Given the description of an element on the screen output the (x, y) to click on. 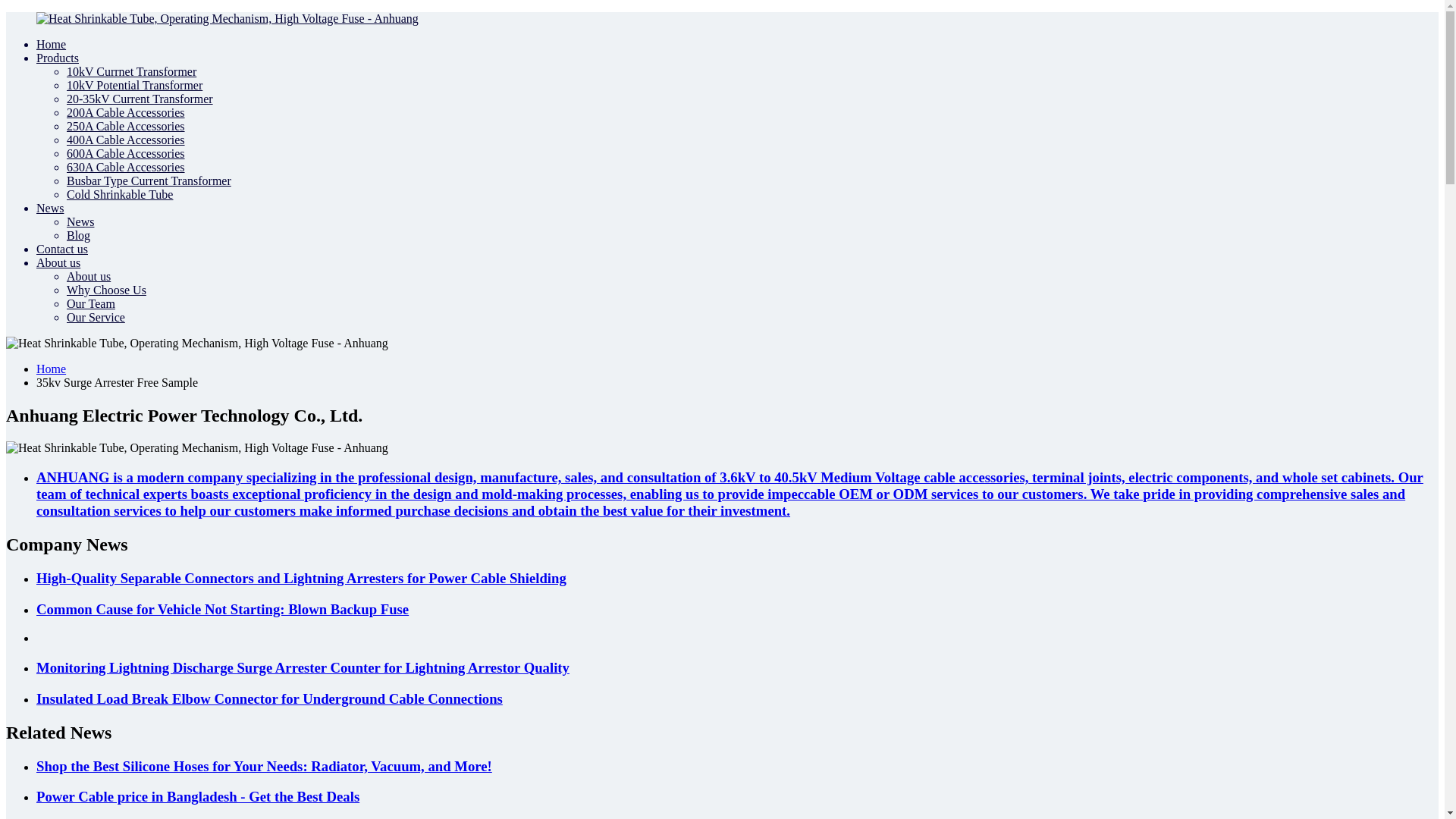
400A Cable Accessories (125, 139)
10kV Currnet Transformer (131, 71)
Cold Shrinkable Tube (119, 194)
Home (50, 368)
Why Choose Us (106, 289)
Our Team (90, 303)
About us (58, 262)
Products (57, 57)
200A Cable Accessories (125, 112)
630A Cable Accessories (125, 166)
